Given the description of an element on the screen output the (x, y) to click on. 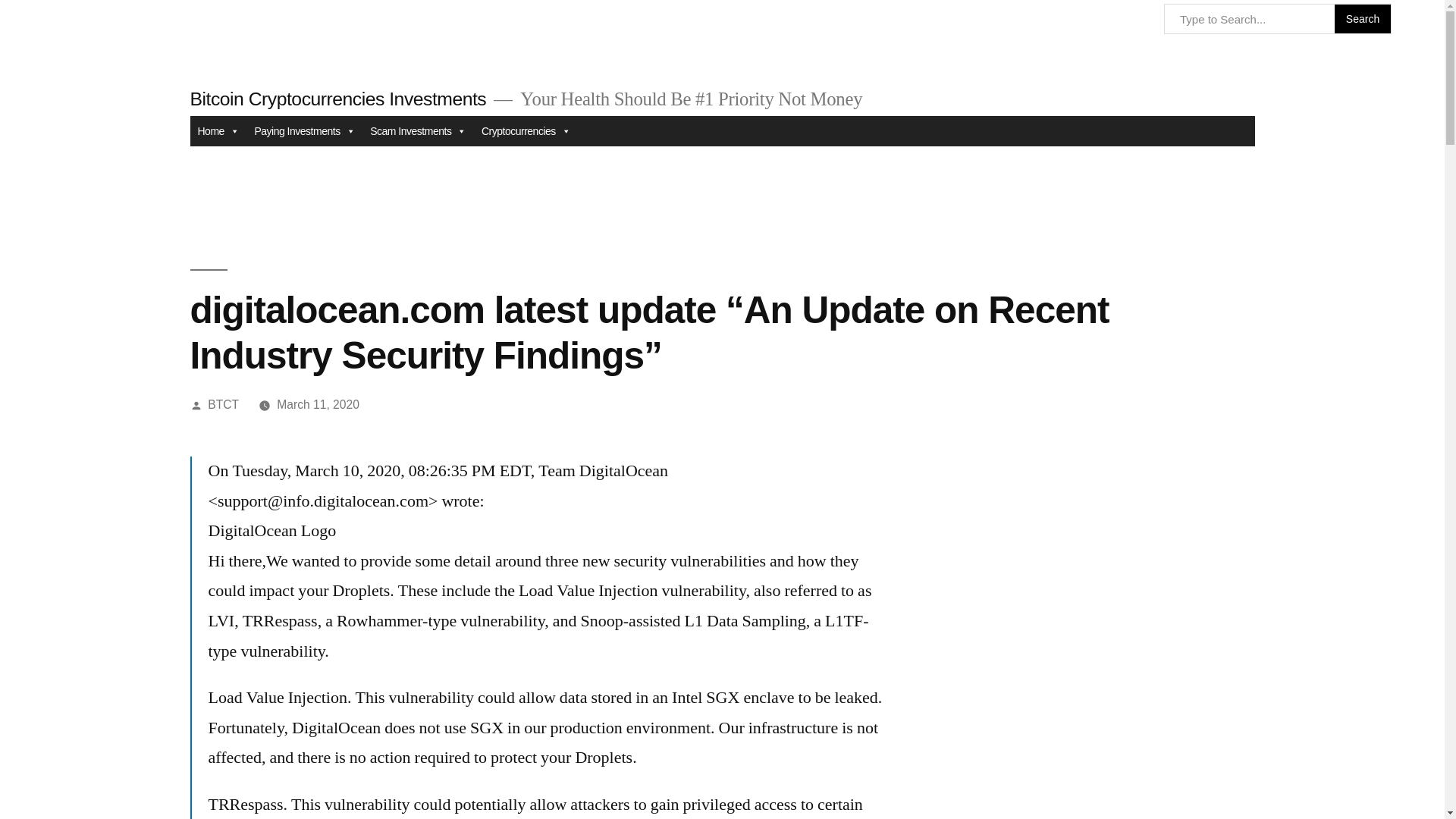
Home (217, 131)
Cryptocurrencies (526, 131)
Bitcoin Cryptocurrencies Investments (337, 98)
Search (1363, 19)
Scam Investments (418, 131)
Search (1363, 19)
Paying Investments (304, 131)
